Given the description of an element on the screen output the (x, y) to click on. 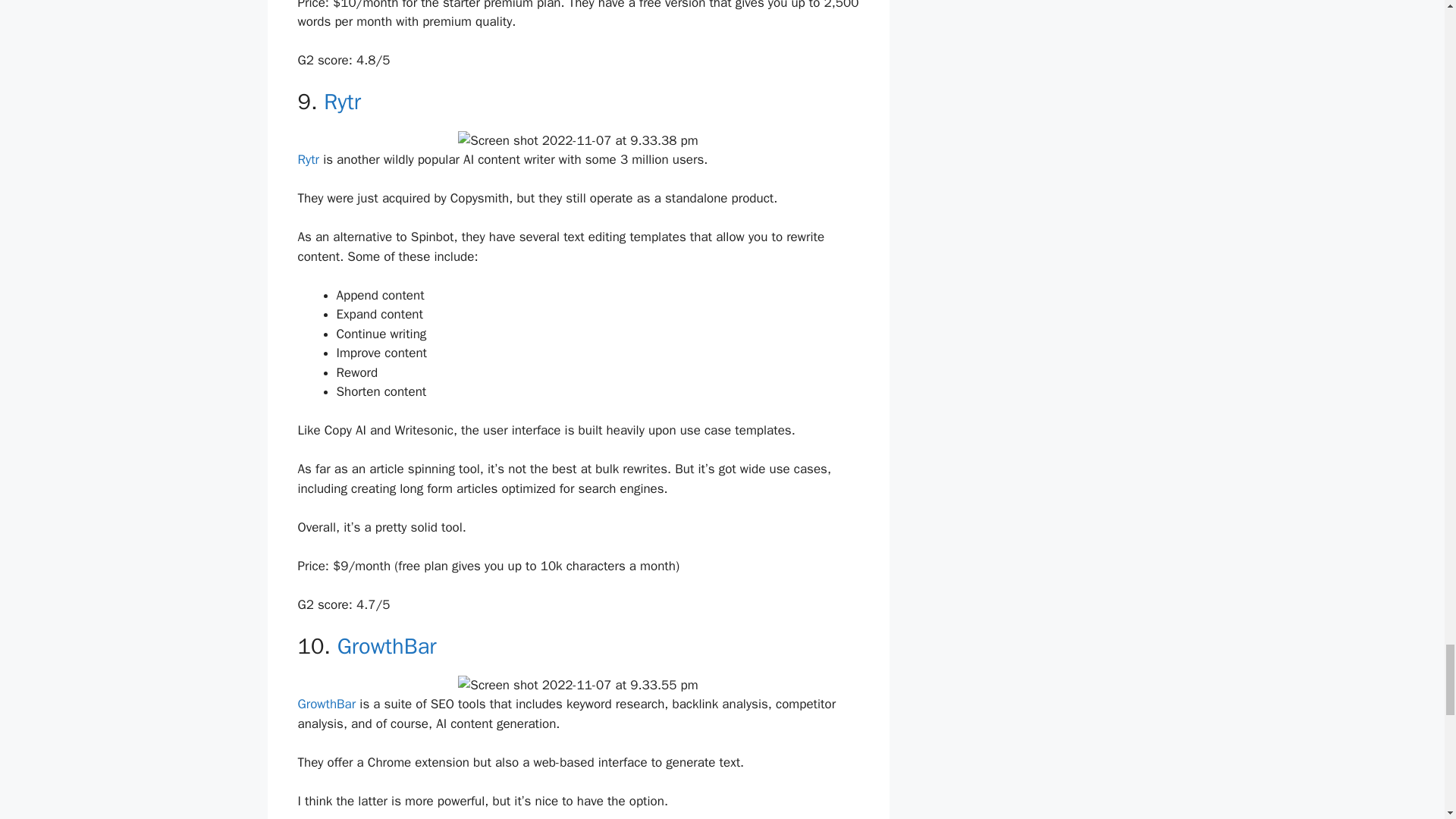
Rytr (342, 101)
GrowthBar (386, 646)
Rytr (307, 159)
